Given the description of an element on the screen output the (x, y) to click on. 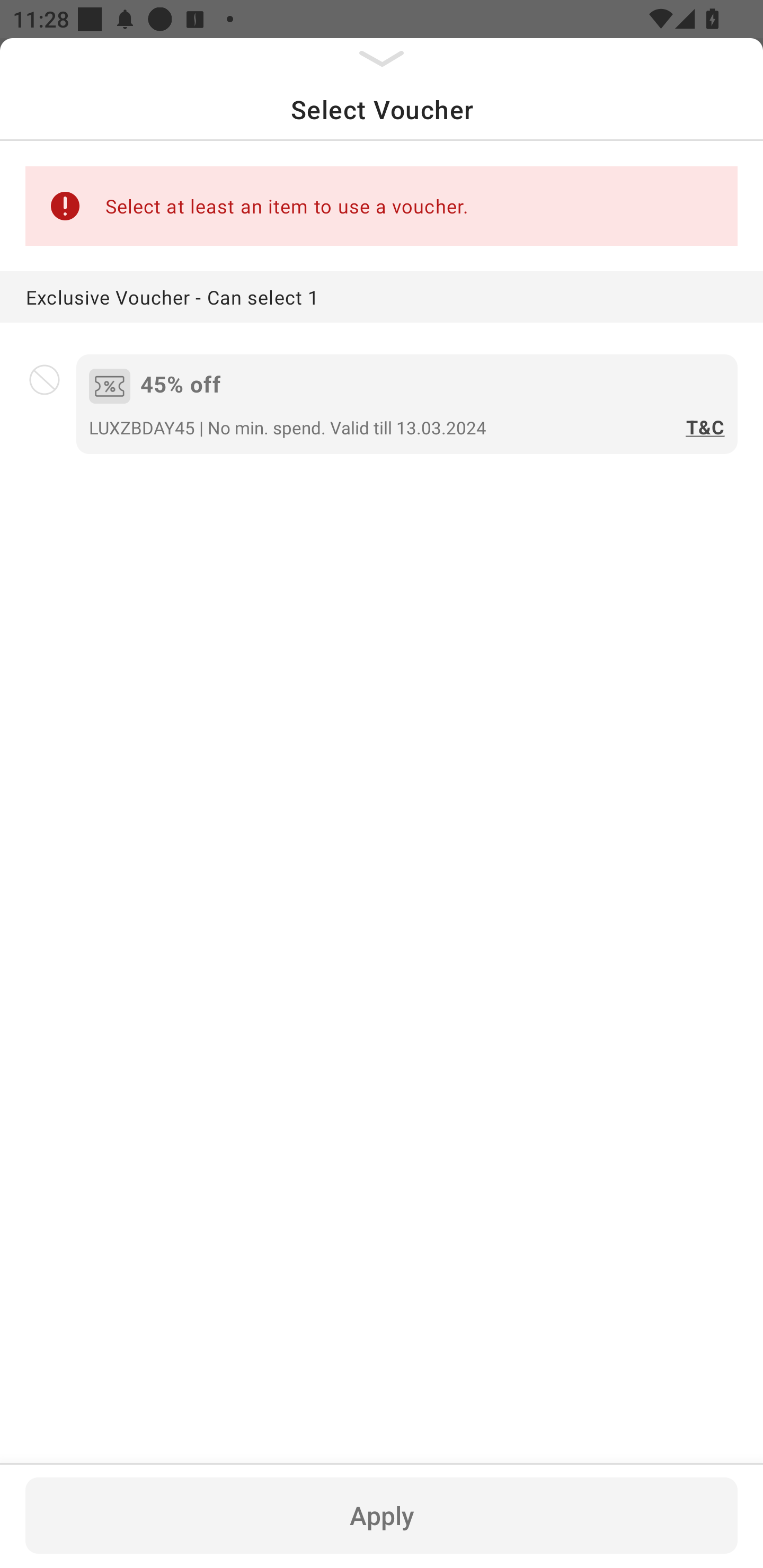
T&C (701, 428)
Apply (381, 1515)
